Given the description of an element on the screen output the (x, y) to click on. 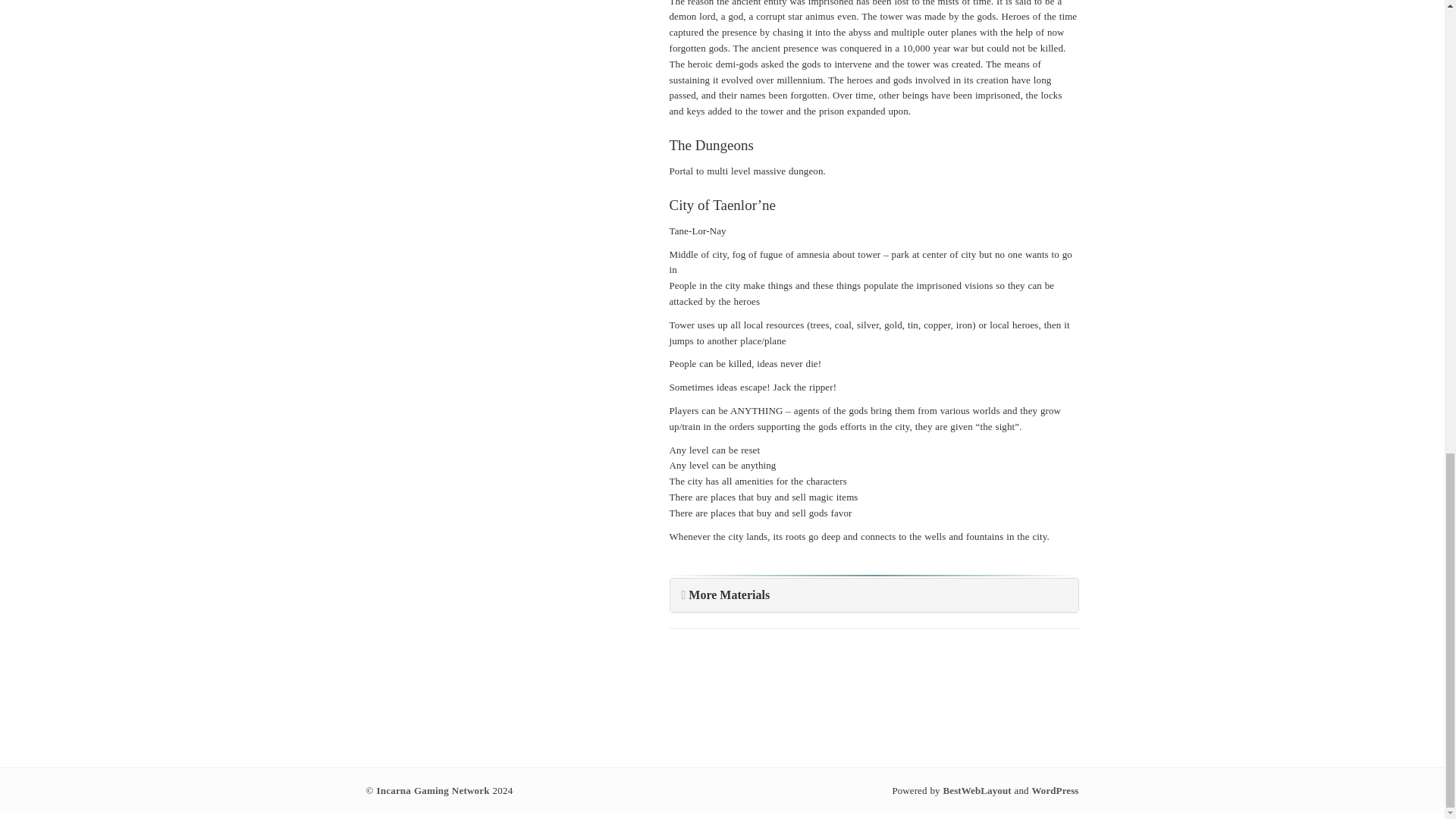
More Materials (729, 594)
Incarna Gaming Network (433, 790)
BestWebLayout (977, 790)
WordPress (1054, 790)
